Given the description of an element on the screen output the (x, y) to click on. 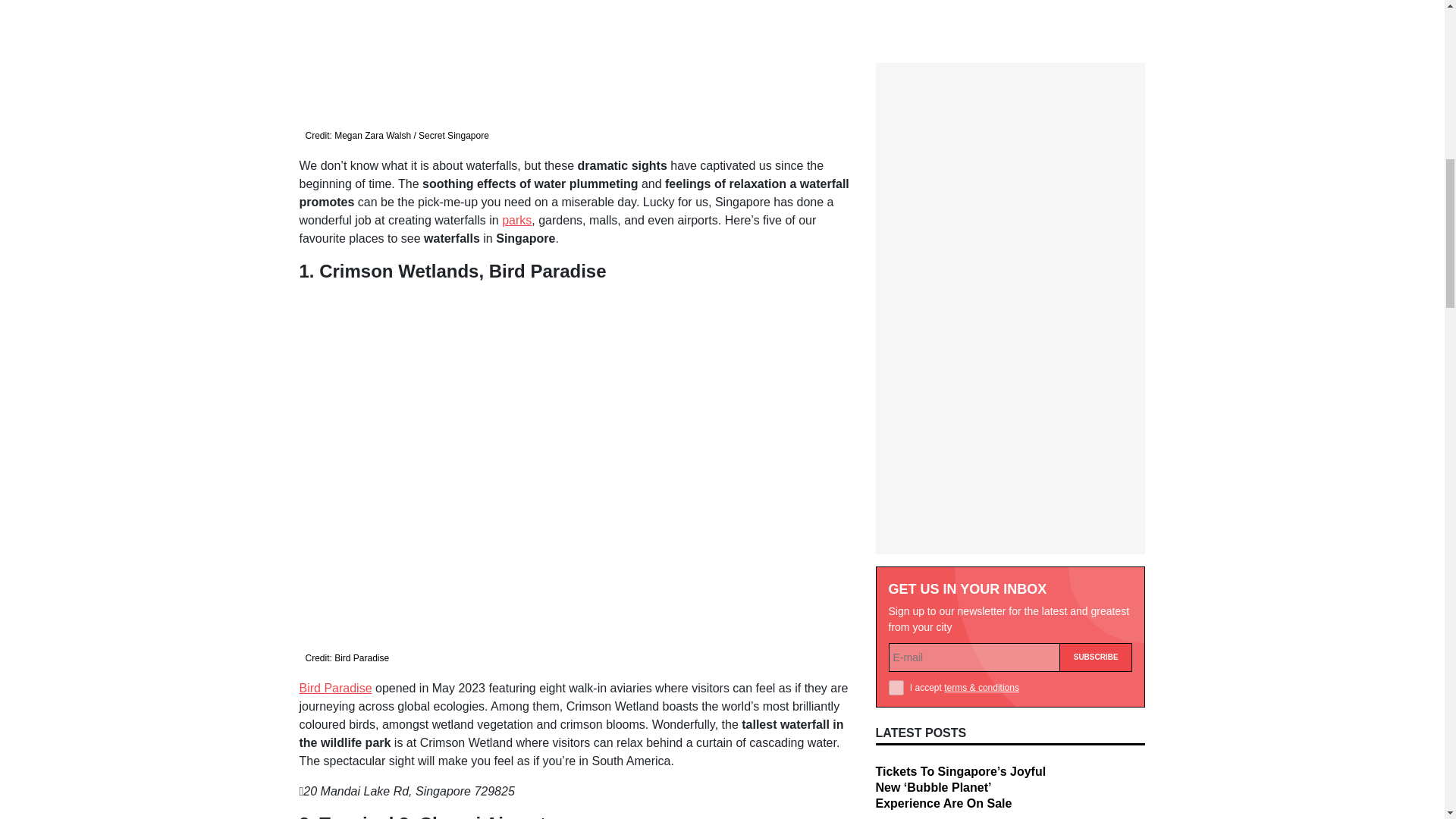
AUGUST 30, 2024 (913, 737)
SEPTEMBER 2, 2024 (919, 538)
Subscribe (1095, 367)
Bird Paradise (334, 687)
Subscribe (1095, 367)
parks (516, 219)
1 (896, 397)
SEPTEMBER 2, 2024 (919, 638)
